Given the description of an element on the screen output the (x, y) to click on. 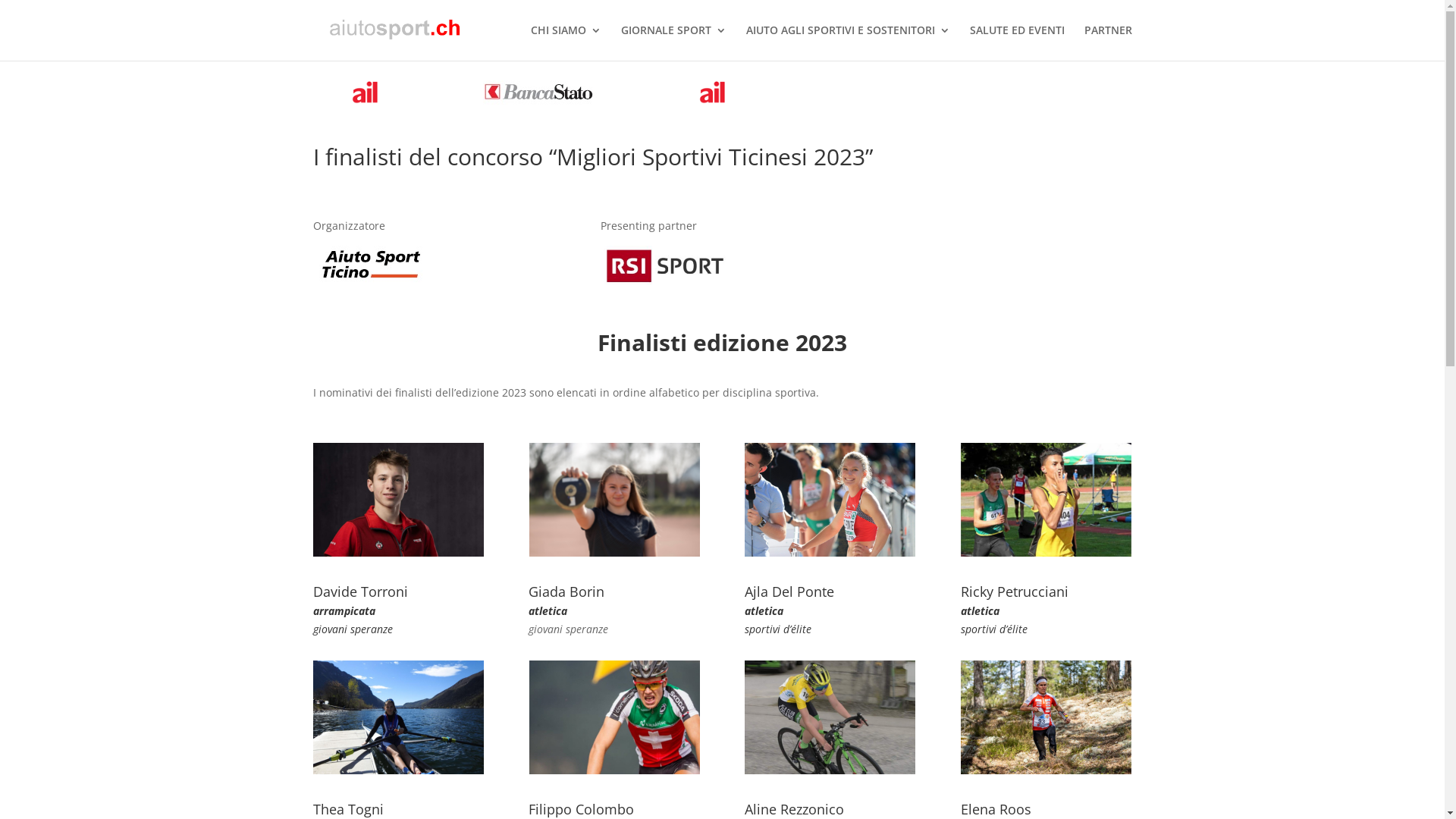
CHI SIAMO Element type: text (565, 42)
Ail Element type: hover (365, 92)
PARTNER Element type: text (1108, 42)
AIUTO AGLI SPORTIVI E SOSTENITORI Element type: text (848, 42)
GIORNALE SPORT Element type: text (672, 42)
Ail Element type: hover (713, 92)
BancaStato Element type: hover (539, 92)
SALUTE ED EVENTI Element type: text (1016, 42)
